Given the description of an element on the screen output the (x, y) to click on. 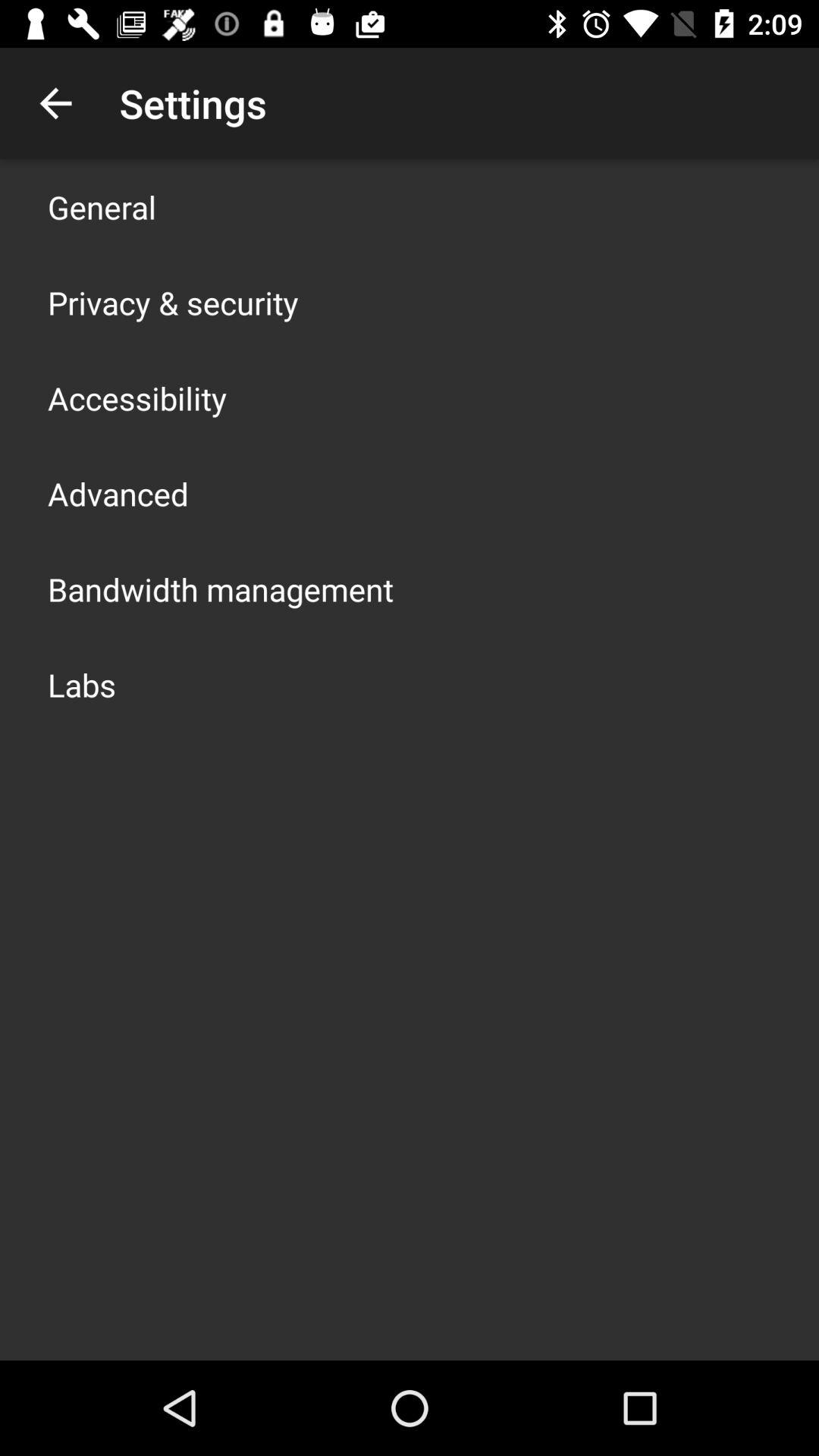
jump until general app (101, 206)
